Given the description of an element on the screen output the (x, y) to click on. 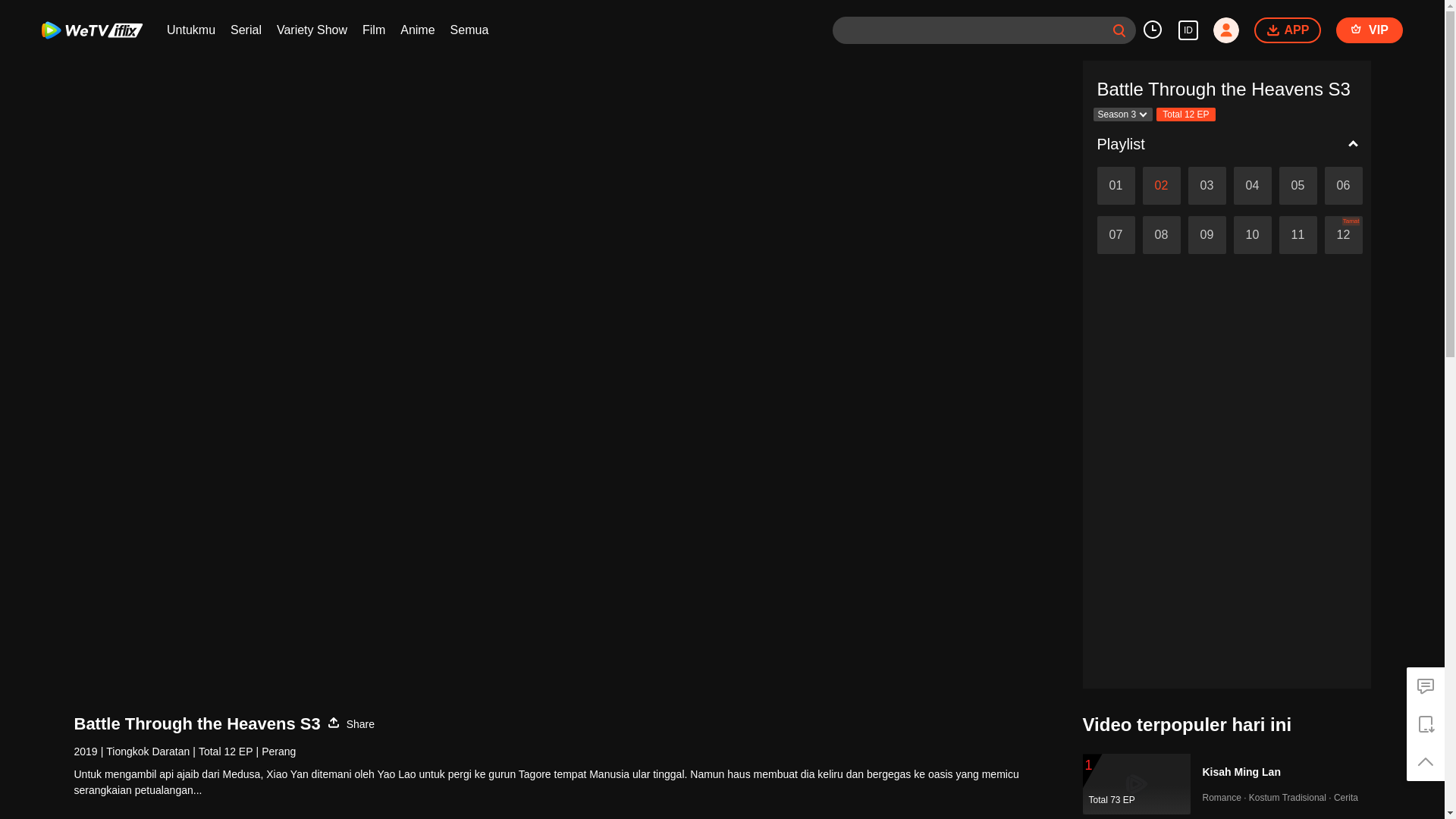
Untukmu (191, 30)
VIP (1369, 30)
Anime (416, 30)
Variety Show (311, 30)
